Given the description of an element on the screen output the (x, y) to click on. 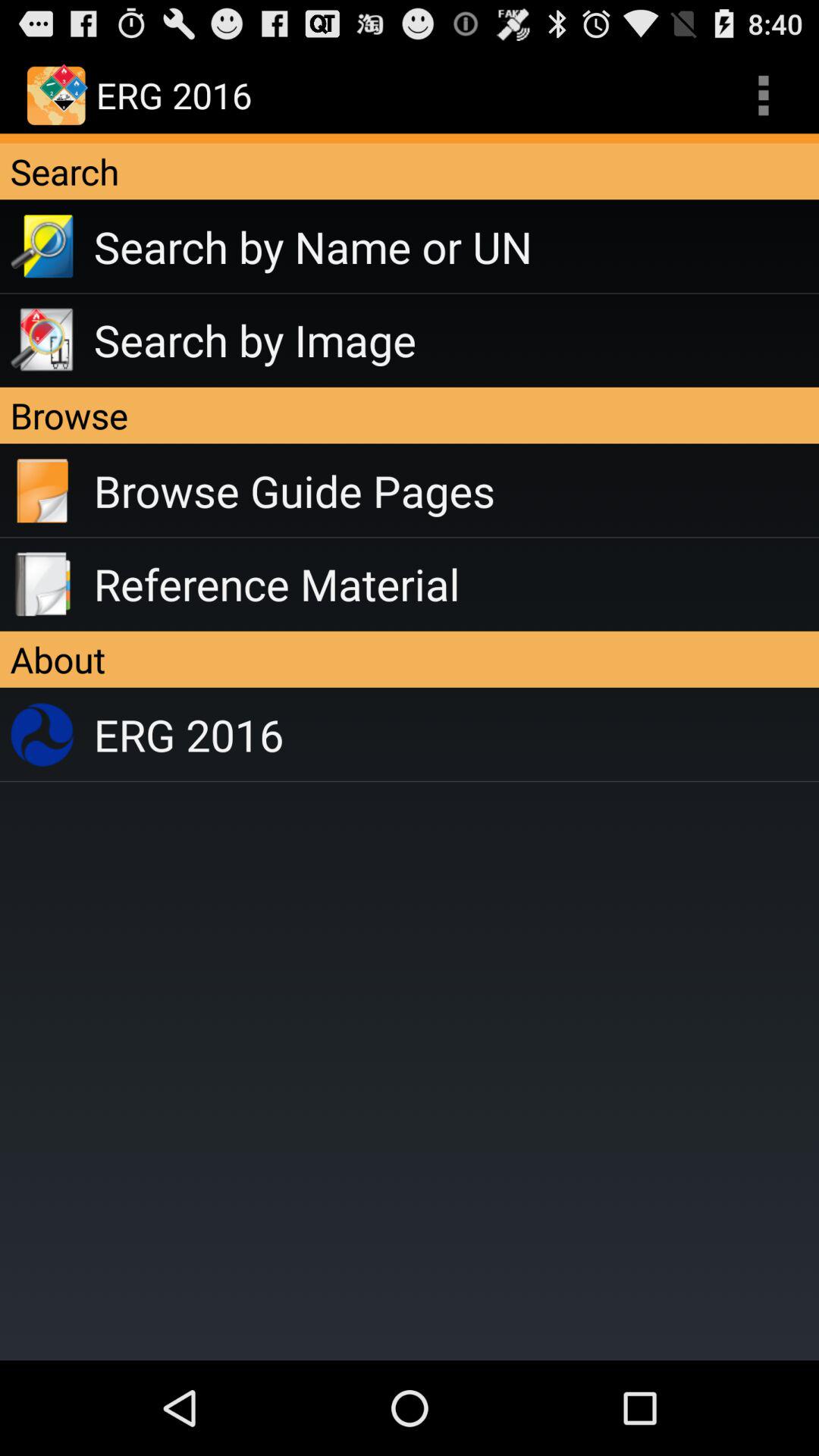
turn on icon above reference material (456, 490)
